Given the description of an element on the screen output the (x, y) to click on. 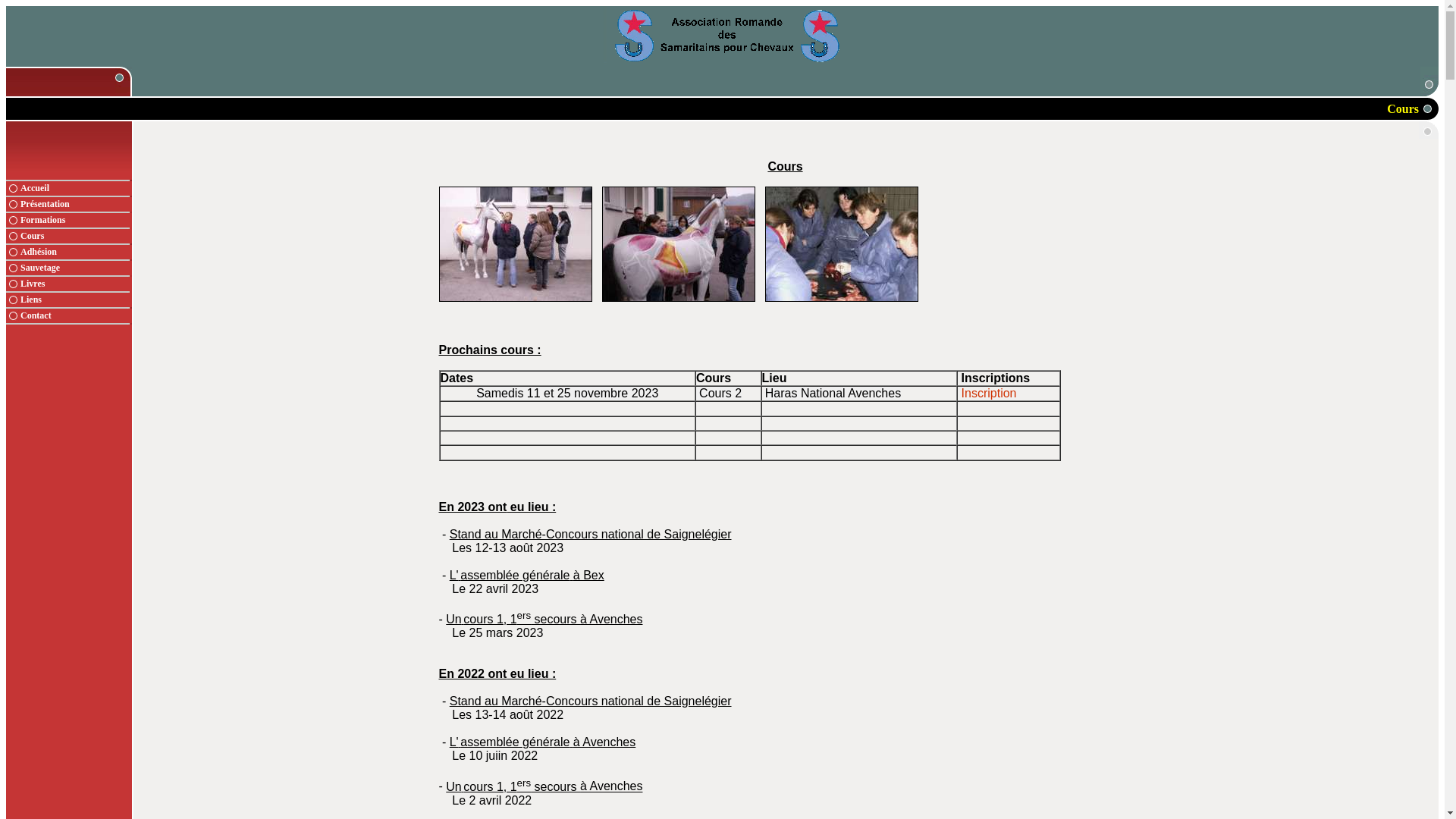
Liens Element type: text (75, 299)
Cours Element type: text (75, 235)
Sauvetage Element type: text (75, 267)
Formations Element type: text (75, 219)
Contact Element type: text (75, 315)
Accueil Element type: text (75, 188)
Inscription Element type: text (988, 392)
Livres Element type: text (75, 283)
